Given the description of an element on the screen output the (x, y) to click on. 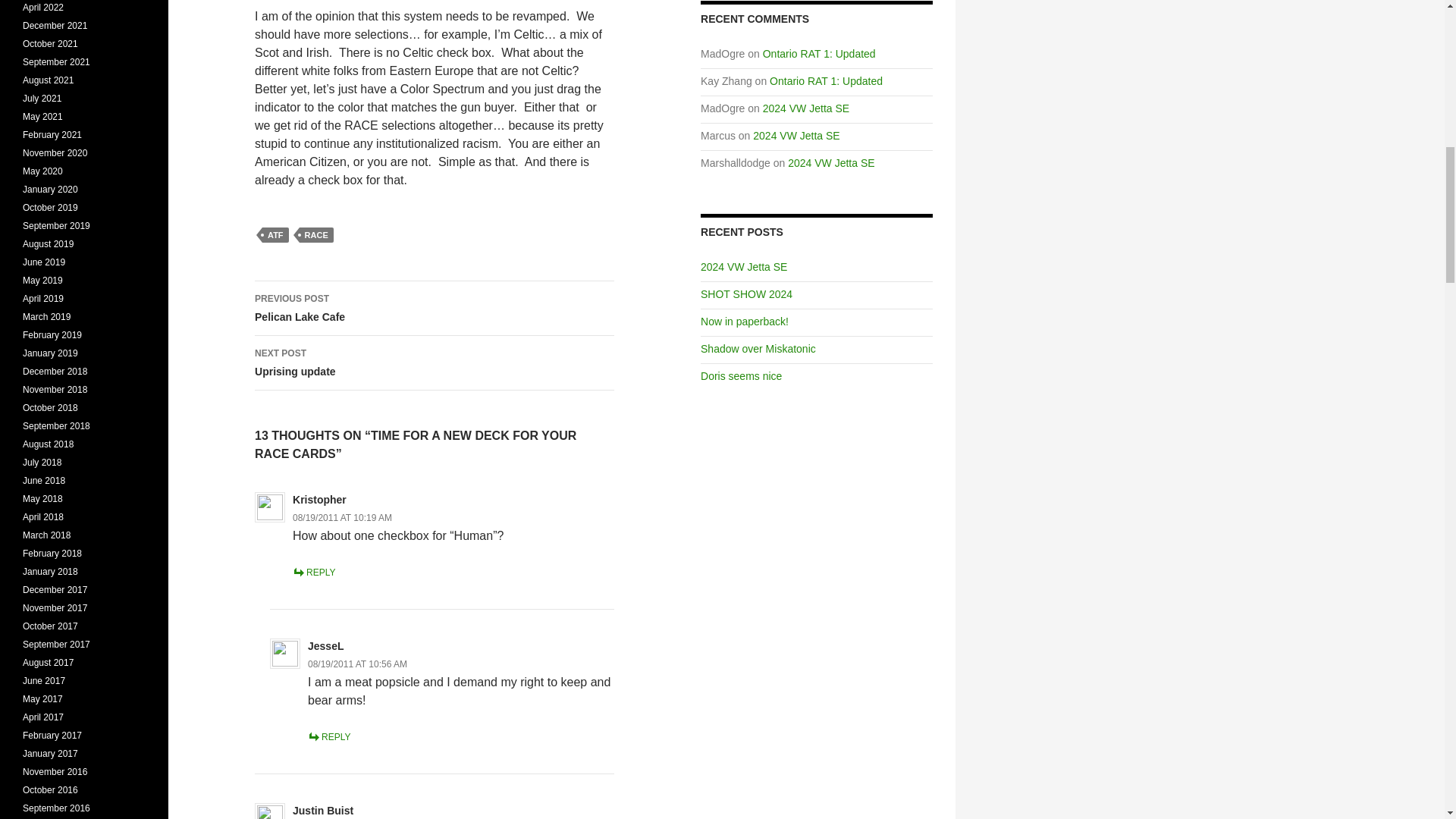
RACE (316, 234)
Justin Buist (322, 810)
REPLY (313, 572)
ATF (434, 362)
REPLY (434, 308)
